Given the description of an element on the screen output the (x, y) to click on. 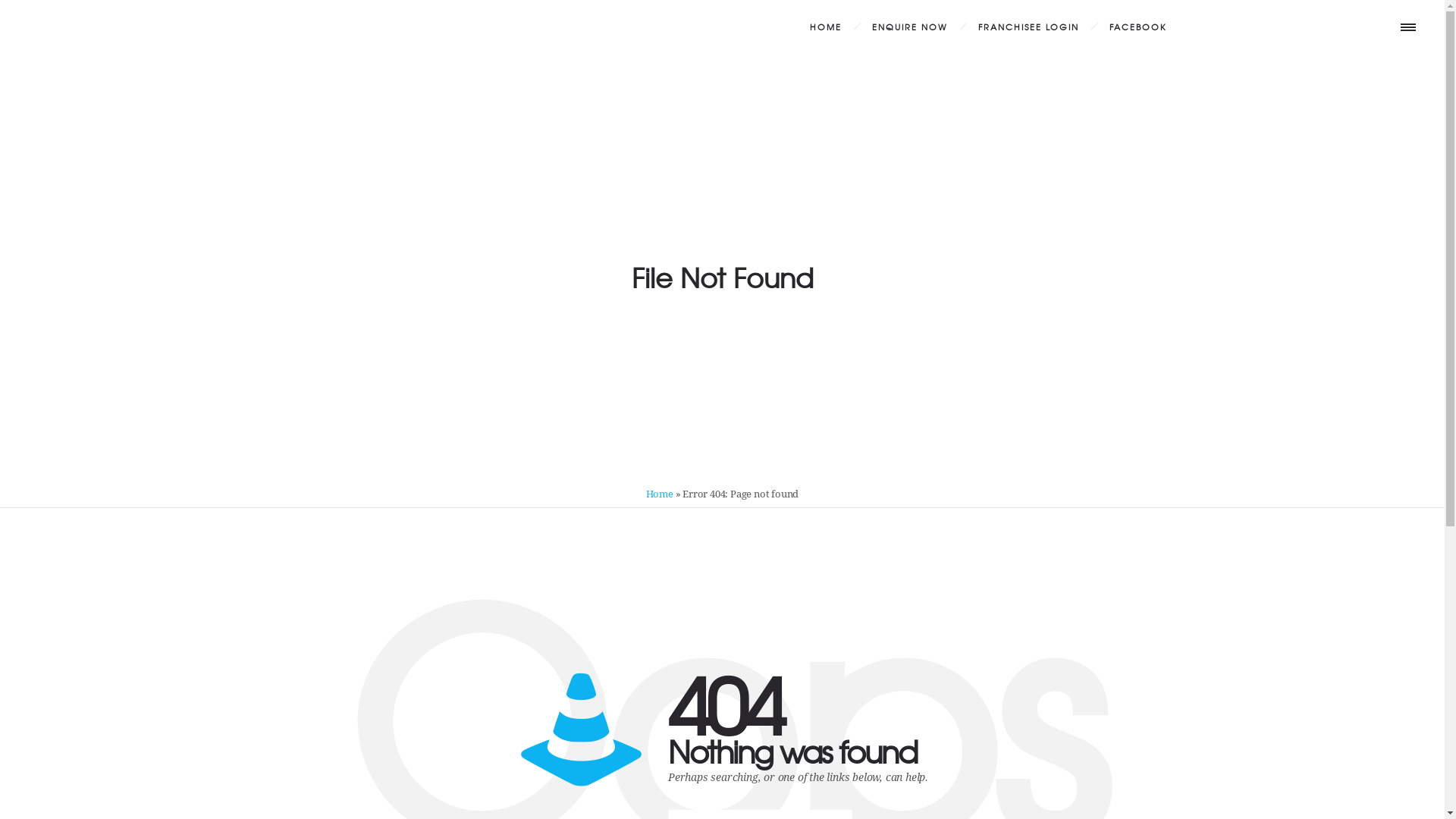
Home Element type: text (659, 493)
ENQUIRE NOW Element type: text (909, 26)
FRANCHISEE LOGIN Element type: text (1028, 26)
HOME Element type: text (825, 26)
FACEBOOK Element type: text (1138, 26)
